Given the description of an element on the screen output the (x, y) to click on. 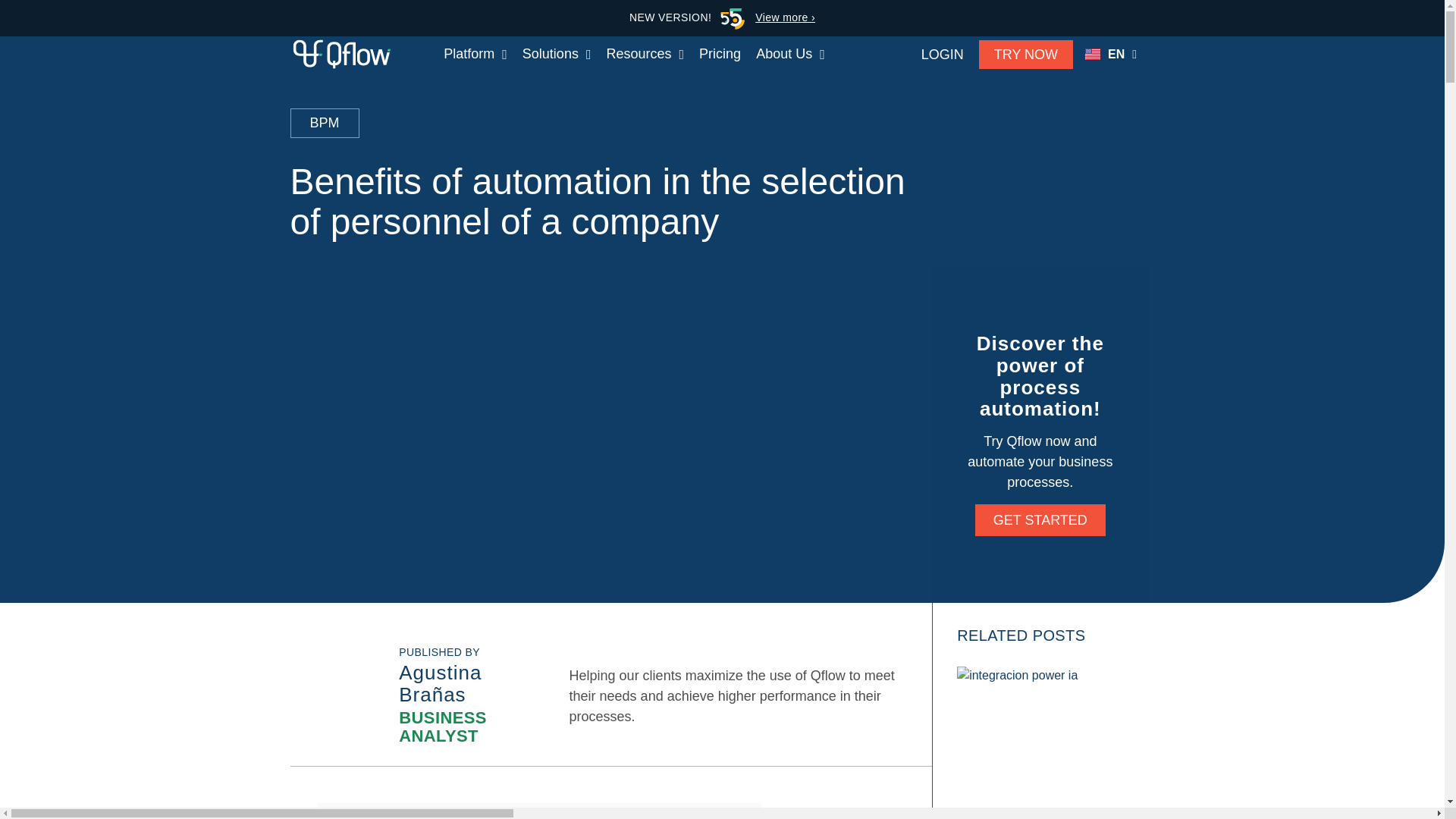
EN (1110, 54)
TRY NOW (1025, 53)
GET STARTED (1040, 520)
About Us (790, 54)
Pricing (719, 54)
Solutions (556, 54)
LOGIN (941, 53)
Platform (475, 54)
Resources (644, 54)
